Given the description of an element on the screen output the (x, y) to click on. 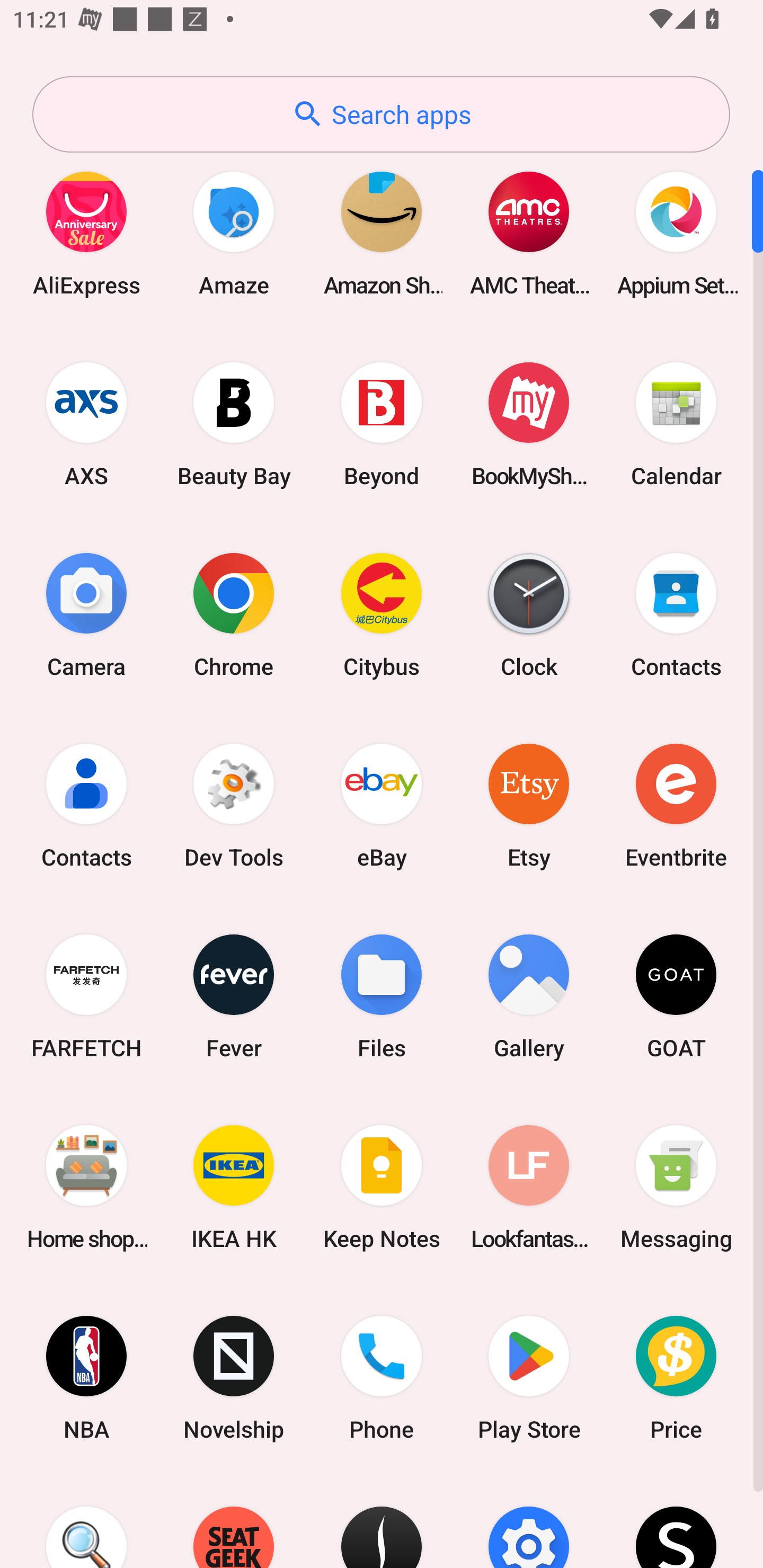
  Search apps (381, 114)
AliExpress (86, 233)
Amaze (233, 233)
Amazon Shopping (381, 233)
AMC Theatres (528, 233)
Appium Settings (676, 233)
AXS (86, 424)
Beauty Bay (233, 424)
Beyond (381, 424)
BookMyShow (528, 424)
Calendar (676, 424)
Camera (86, 614)
Chrome (233, 614)
Citybus (381, 614)
Clock (528, 614)
Contacts (676, 614)
Contacts (86, 805)
Dev Tools (233, 805)
eBay (381, 805)
Etsy (528, 805)
Eventbrite (676, 805)
FARFETCH (86, 996)
Fever (233, 996)
Files (381, 996)
Gallery (528, 996)
GOAT (676, 996)
Home shopping (86, 1186)
IKEA HK (233, 1186)
Keep Notes (381, 1186)
Lookfantastic (528, 1186)
Messaging (676, 1186)
NBA (86, 1377)
Novelship (233, 1377)
Phone (381, 1377)
Play Store (528, 1377)
Price (676, 1377)
